Given the description of an element on the screen output the (x, y) to click on. 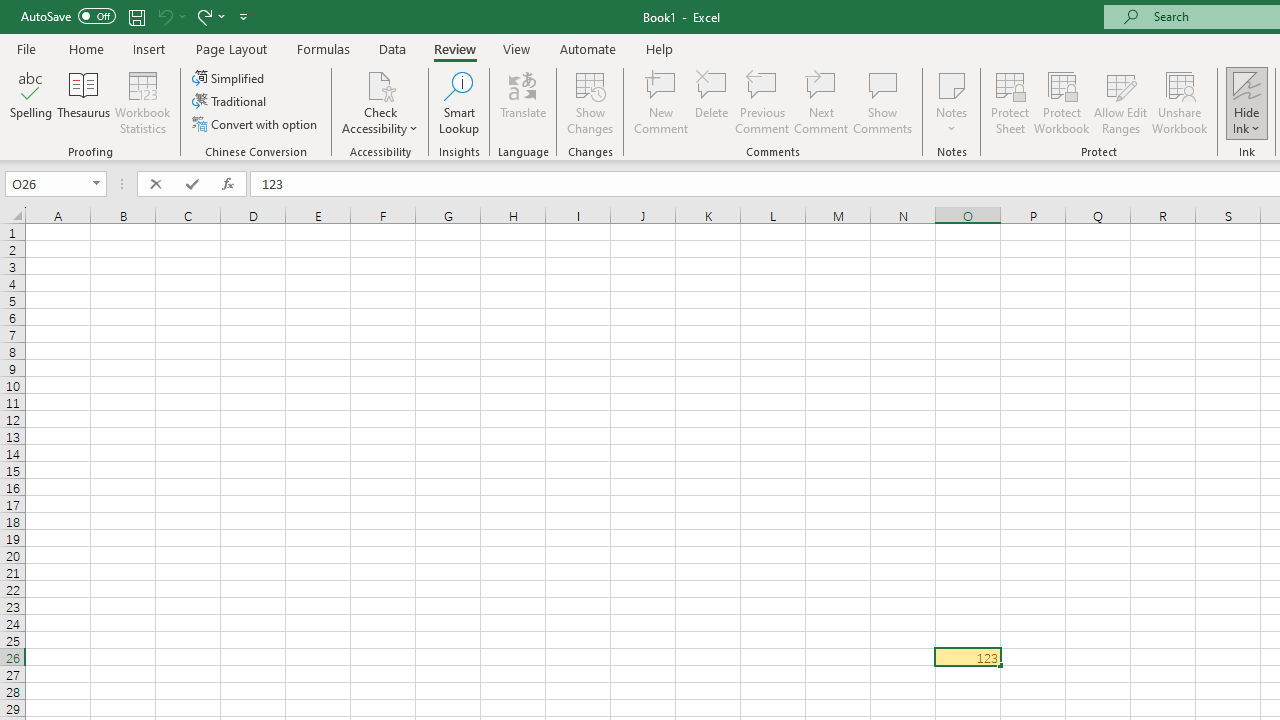
More Options (1247, 121)
Quick Access Toolbar (136, 16)
System (10, 11)
Next Comment (821, 102)
Formulas (323, 48)
New Comment (661, 102)
Convert with option (256, 124)
Check Accessibility (380, 84)
Translate (523, 102)
Insert (149, 48)
Thesaurus... (83, 102)
Hide Ink (1247, 102)
Unshare Workbook (1179, 102)
Save (136, 15)
System (10, 11)
